Given the description of an element on the screen output the (x, y) to click on. 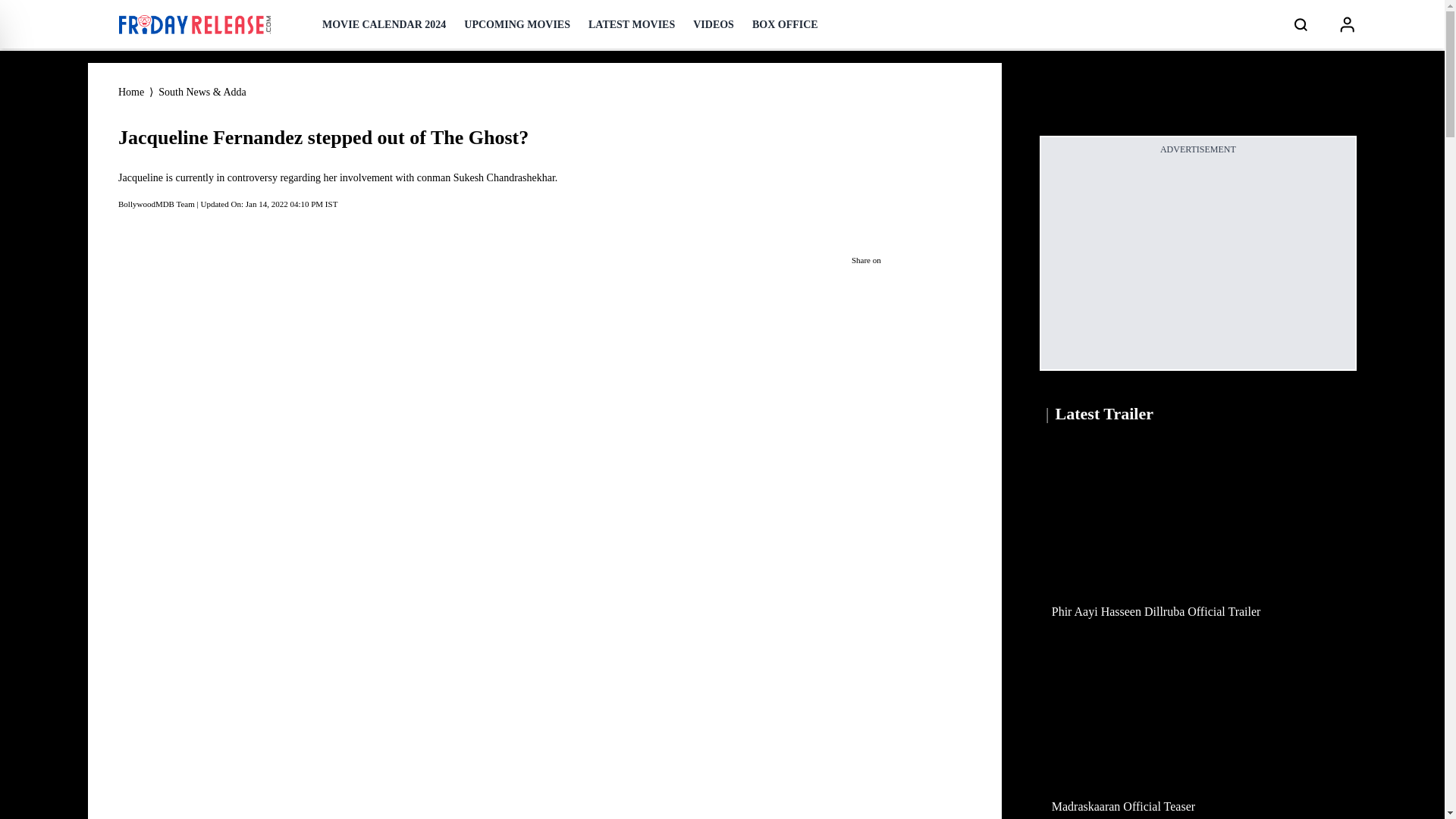
LATEST MOVIES (631, 24)
BOX OFFICE (785, 24)
MOVIE CALENDAR 2024 (383, 24)
VIDEOS (713, 24)
Share on (905, 259)
UPCOMING MOVIES (517, 24)
